Given the description of an element on the screen output the (x, y) to click on. 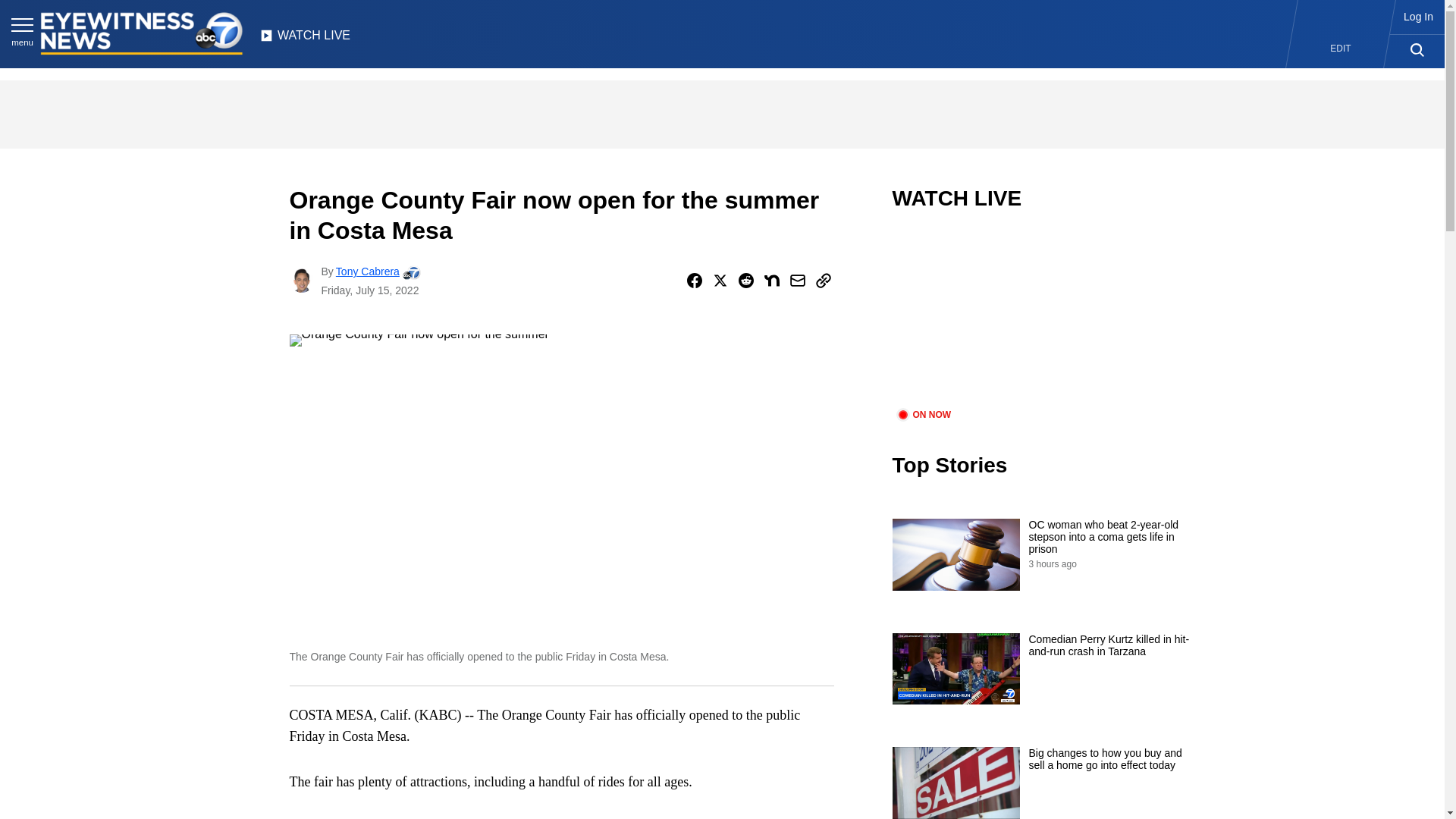
EDIT (1340, 48)
WATCH LIVE (305, 39)
video.title (1043, 318)
